Given the description of an element on the screen output the (x, y) to click on. 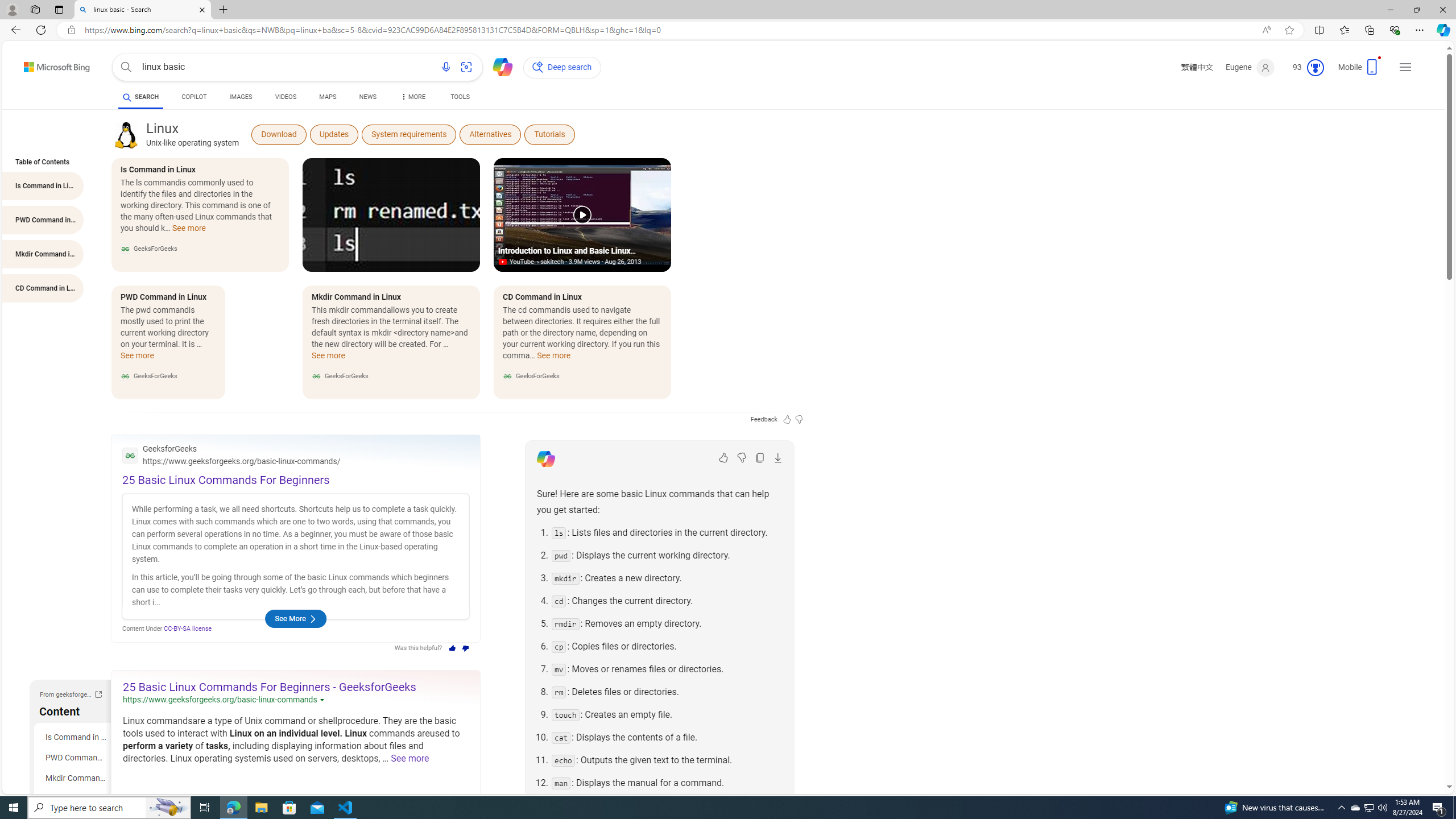
25 Basic Linux Commands For Beginners - GeeksforGeeks (269, 686)
Eugene (1249, 67)
Search using voice (445, 66)
CD Command in Linux (74, 798)
Search more (1423, 753)
COPILOT (193, 96)
From geeksforgeeks.org (97, 694)
Linux (126, 135)
Class: medal-circled (1315, 67)
